Given the description of an element on the screen output the (x, y) to click on. 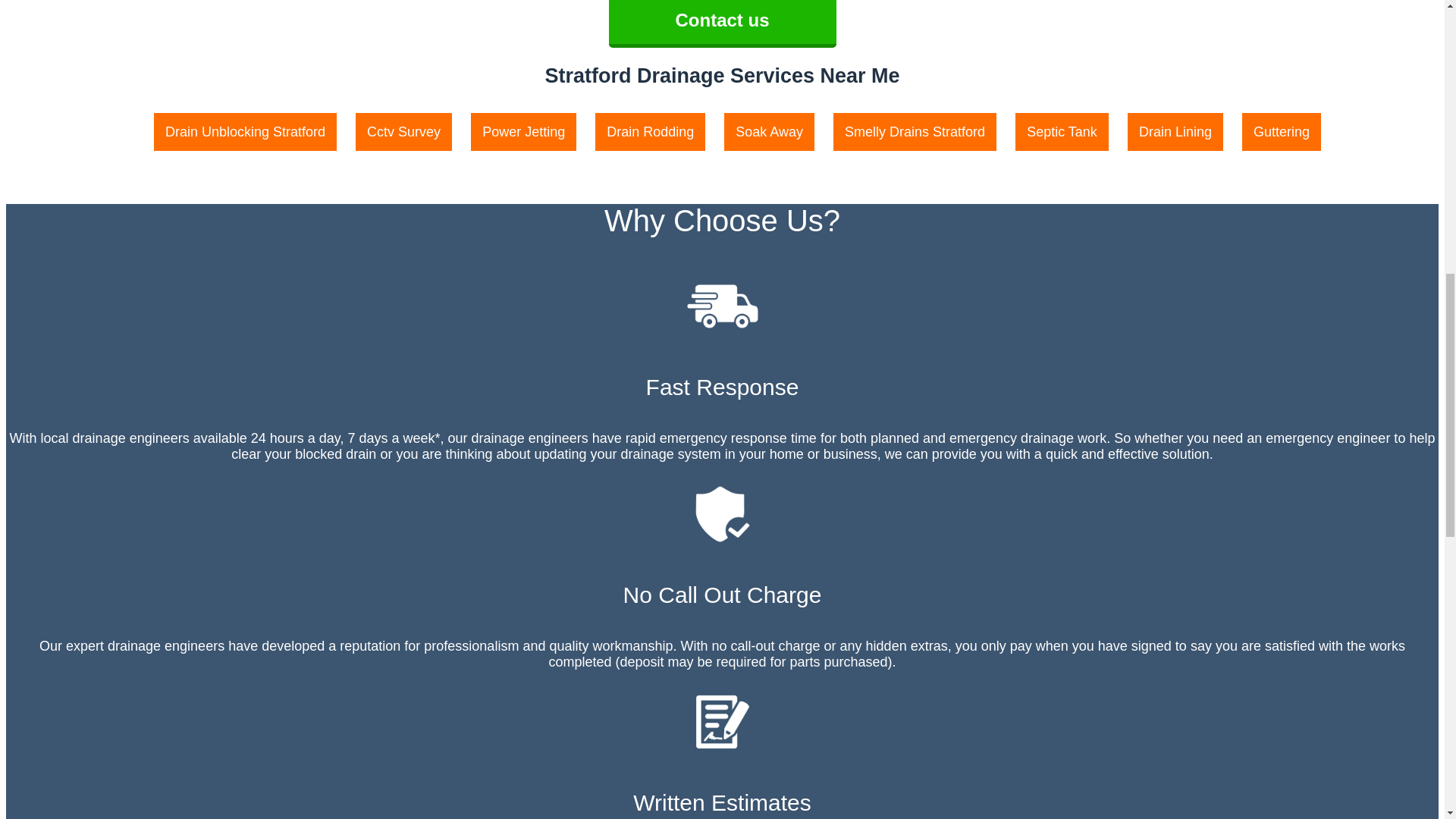
Contact us (721, 21)
